Given the description of an element on the screen output the (x, y) to click on. 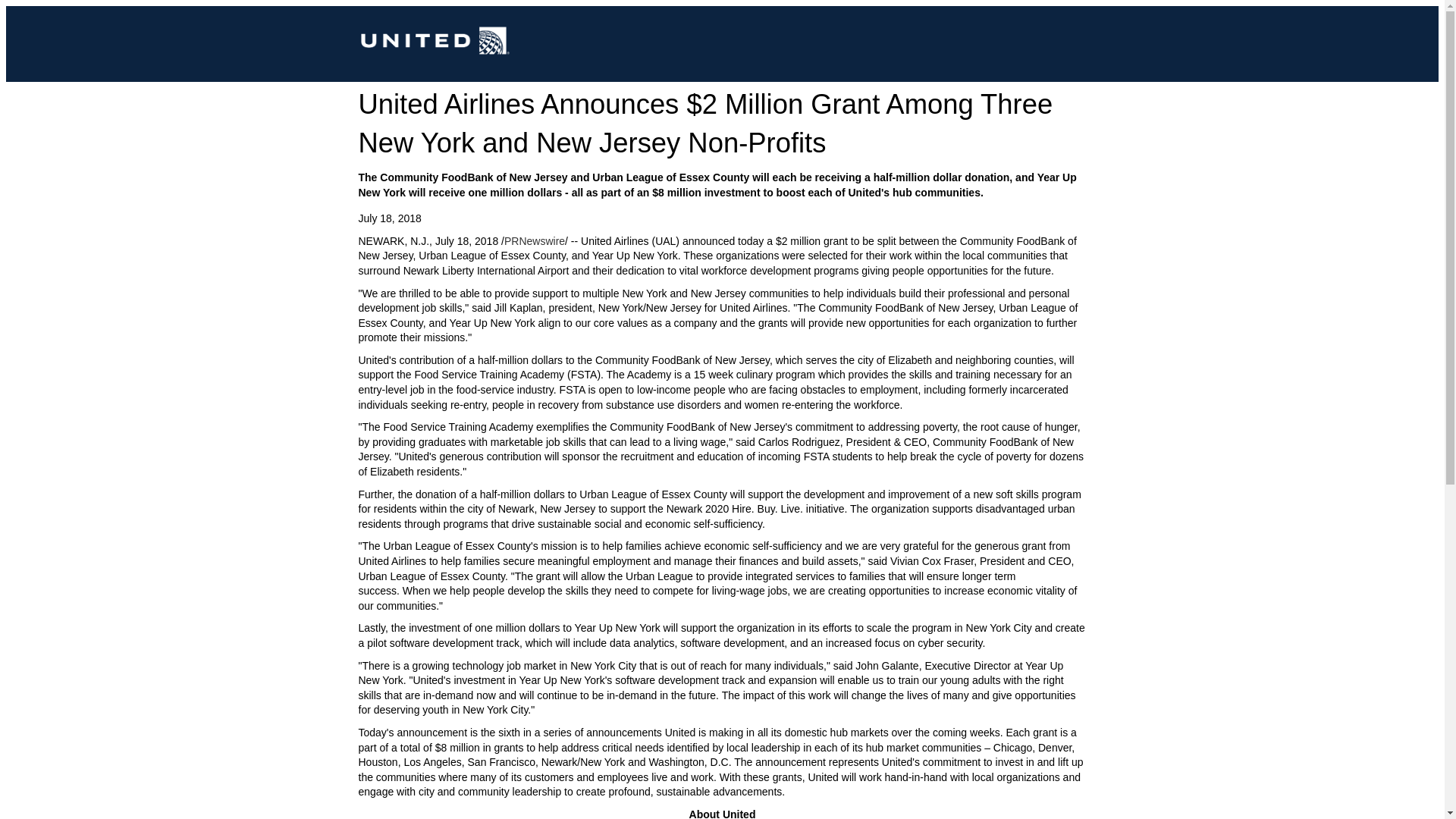
PRNewswire (533, 241)
